Given the description of an element on the screen output the (x, y) to click on. 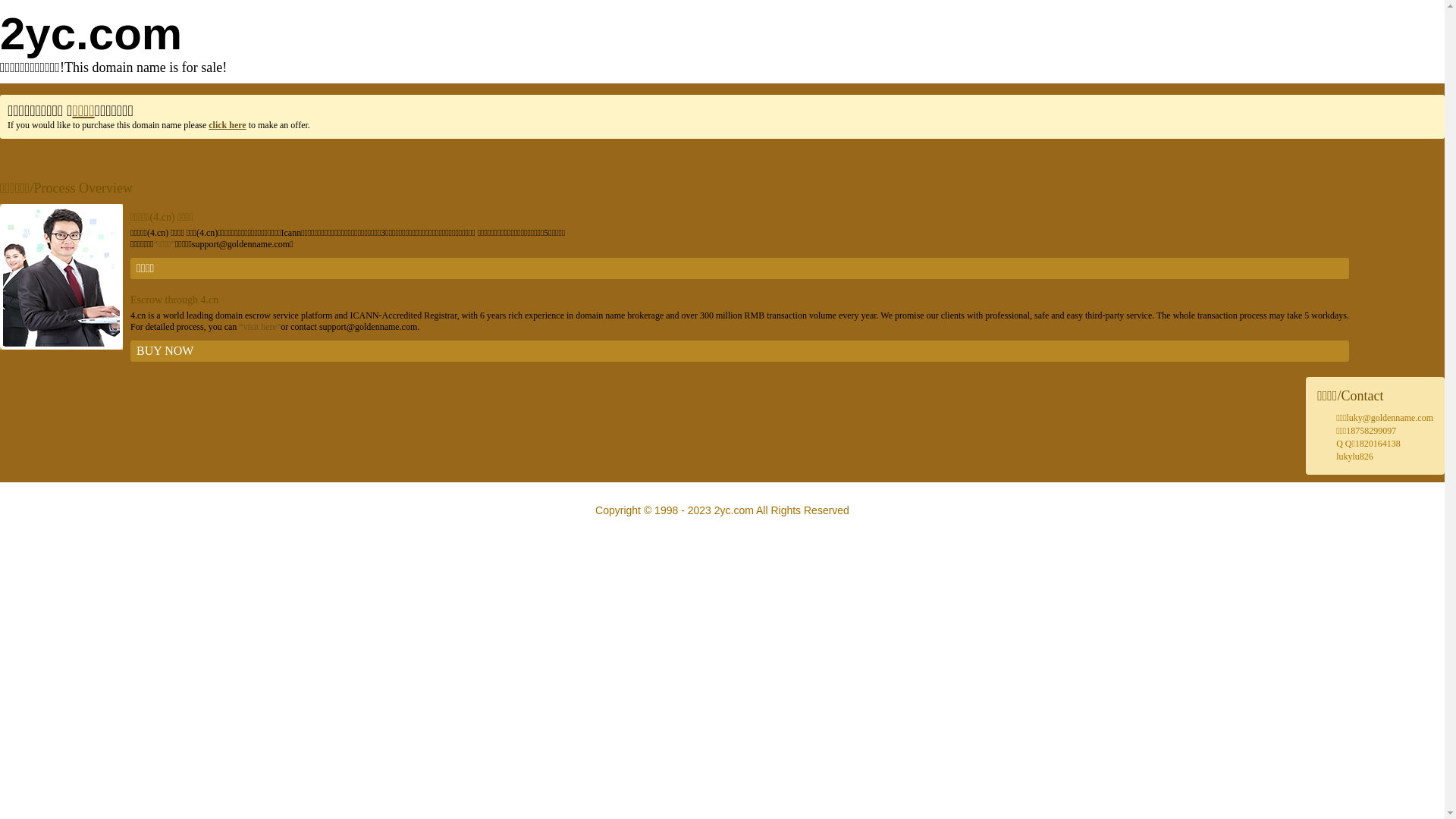
click here Element type: text (226, 124)
BUY NOW Element type: text (739, 350)
